Given the description of an element on the screen output the (x, y) to click on. 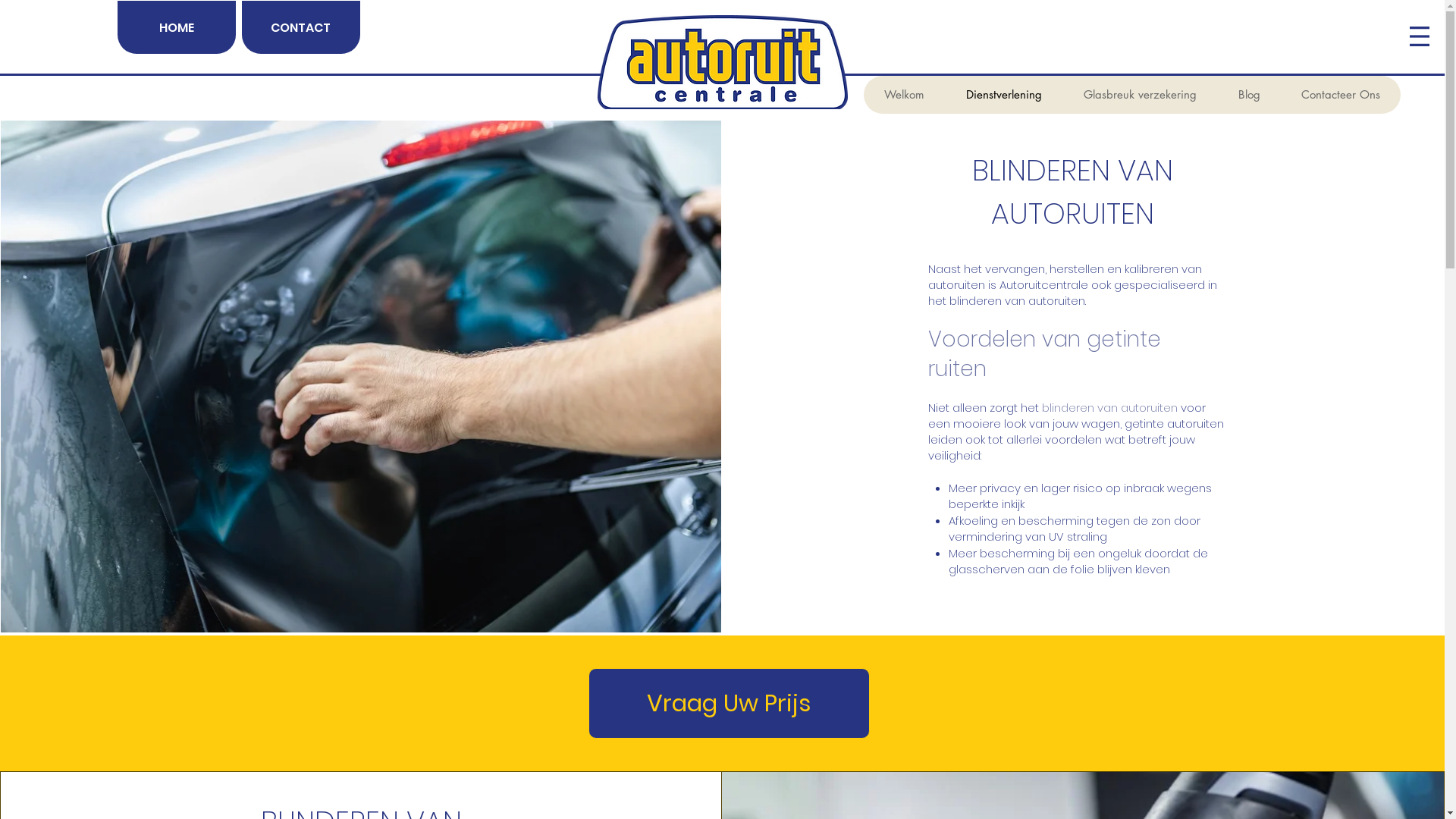
Contacteer Ons Element type: text (1339, 94)
Glasbreuk verzekering Element type: text (1138, 94)
Vraag Uw Prijs Element type: text (728, 703)
CONTACT Element type: text (300, 26)
Welkom Element type: text (903, 94)
Blog Element type: text (1248, 94)
Dienstverlening Element type: text (1003, 94)
HOME Element type: text (175, 26)
